Given the description of an element on the screen output the (x, y) to click on. 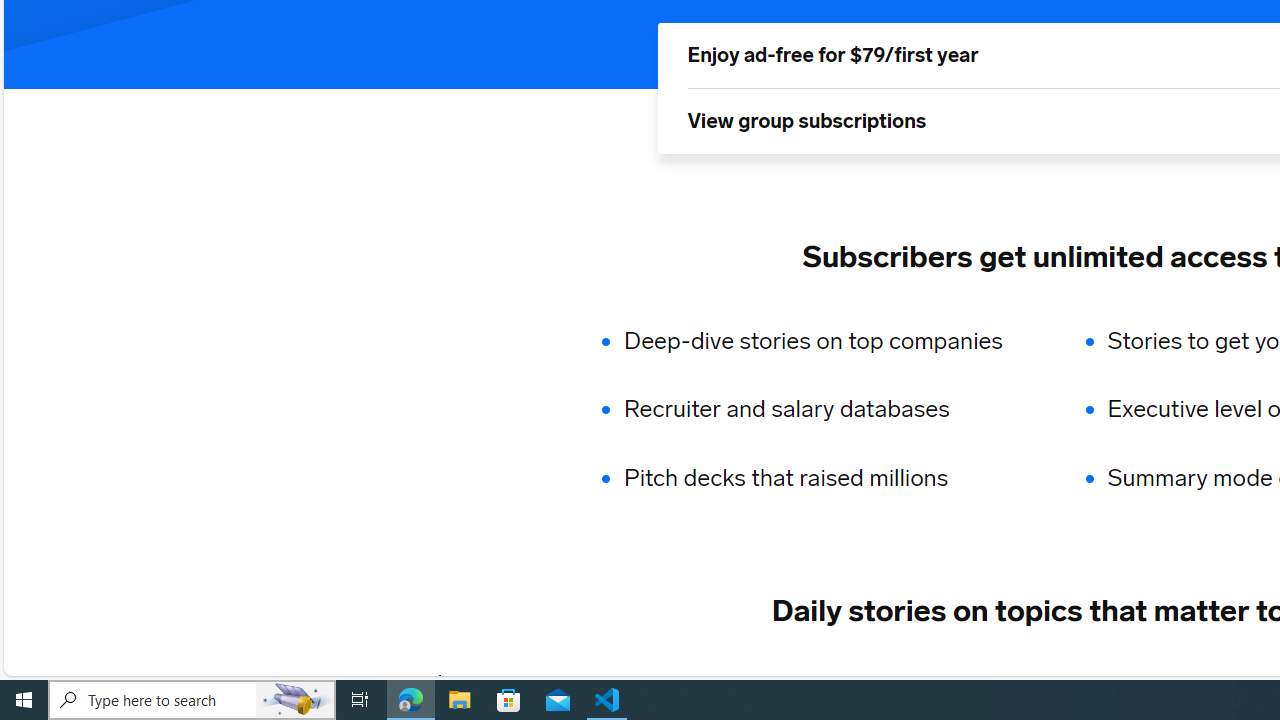
Deep-dive stories on top companies (825, 340)
Recruiter and salary databases (825, 409)
RETAIL (744, 681)
Pitch decks that raised millions (825, 478)
FINANCE (853, 681)
HEALTHCARE (1195, 681)
TECH (492, 681)
ADVERTISING (615, 681)
PERSONAL FINANCE (1016, 681)
